Given the description of an element on the screen output the (x, y) to click on. 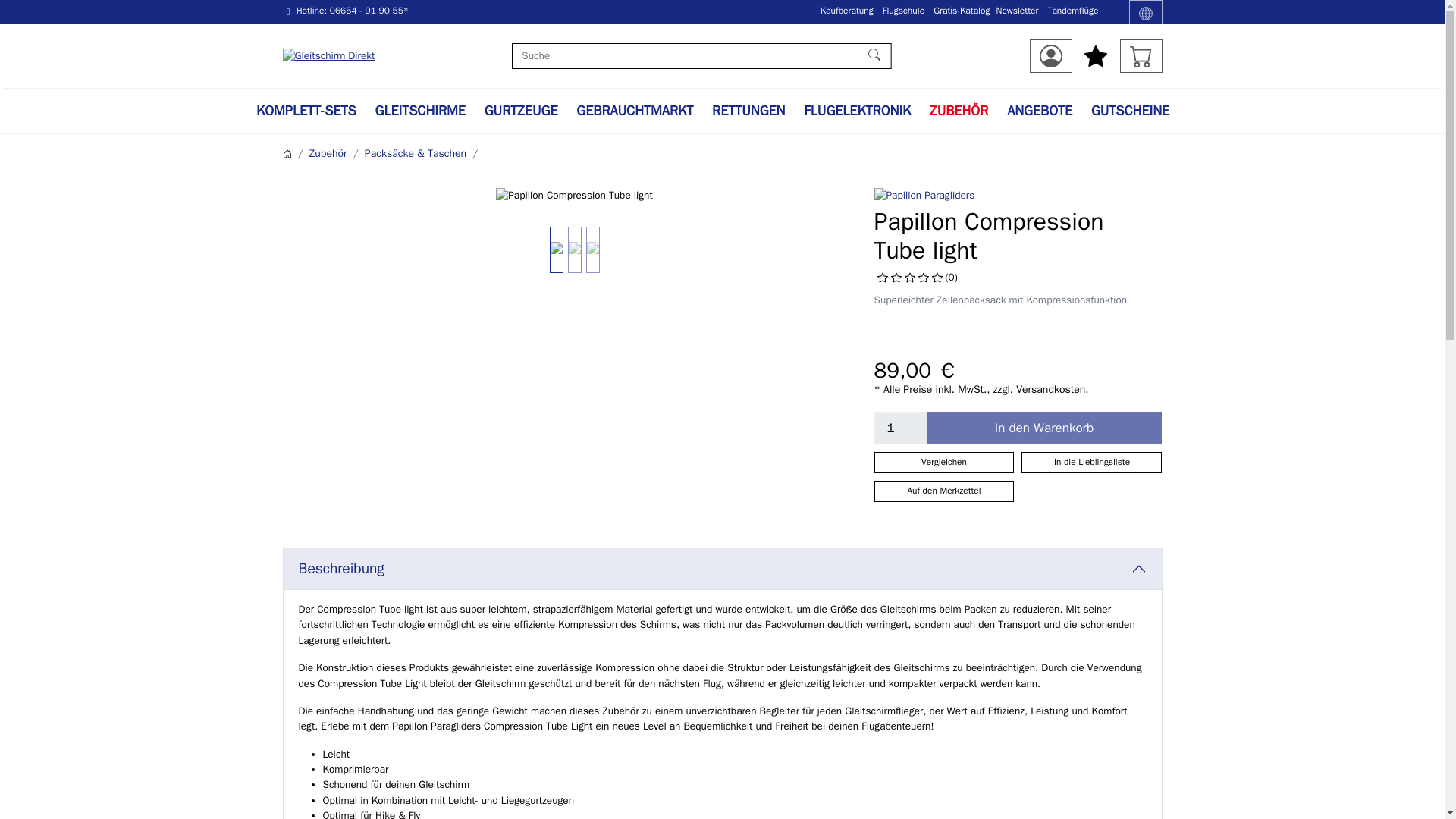
Suchen (875, 55)
KOMPLETT-SETS (306, 110)
GURTZEUGE (520, 110)
1 (899, 428)
Papillon Paragliders (923, 195)
Papillon Paragliding Flugschulen (903, 10)
Flugschule (903, 10)
Gratis-Katalog (961, 10)
GLEITSCHIRME (420, 110)
Kaufberatung (847, 10)
